Given the description of an element on the screen output the (x, y) to click on. 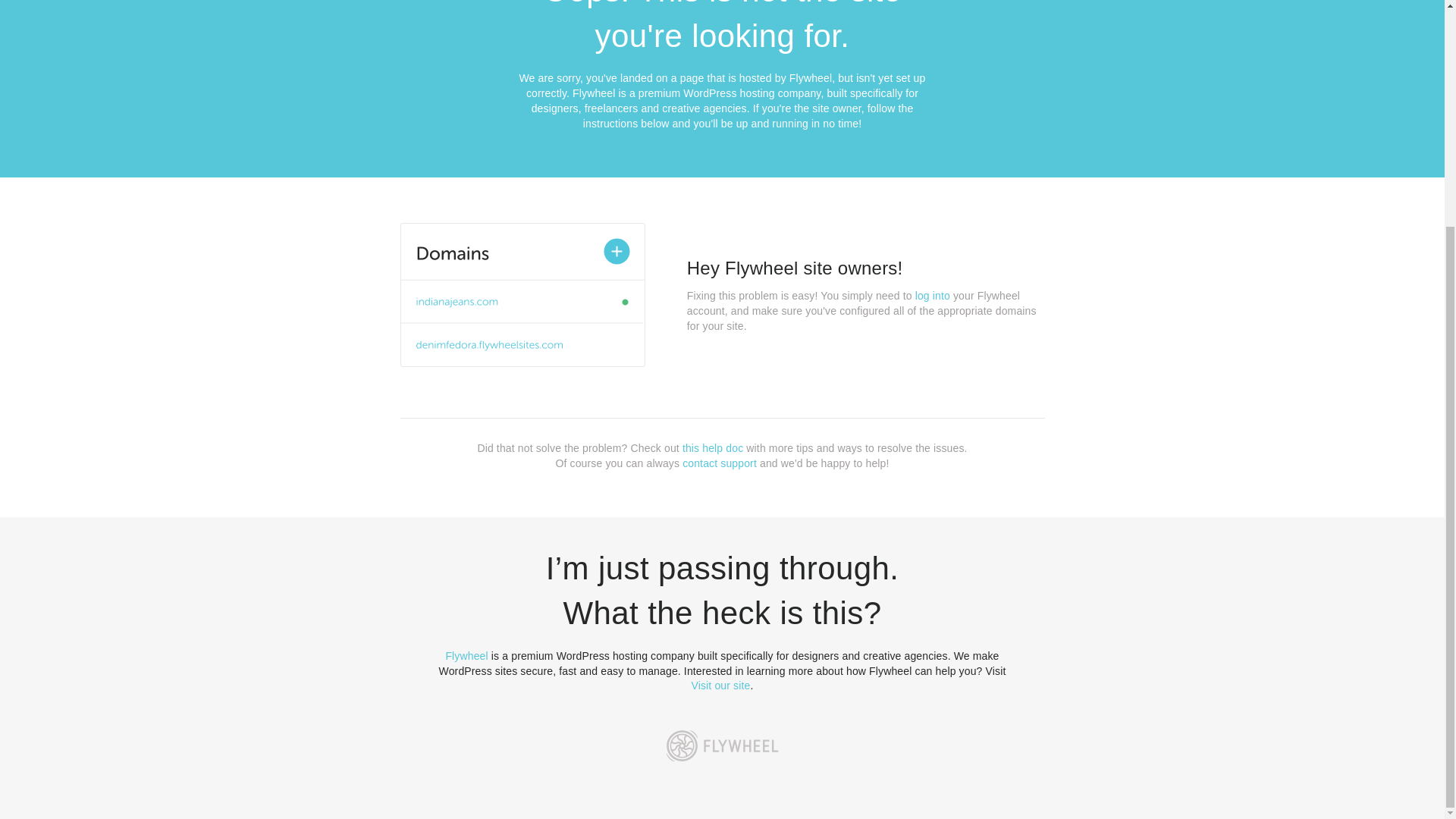
log into (932, 295)
this help doc (712, 448)
contact support (719, 463)
Visit our site (721, 685)
Flywheel (466, 655)
